Given the description of an element on the screen output the (x, y) to click on. 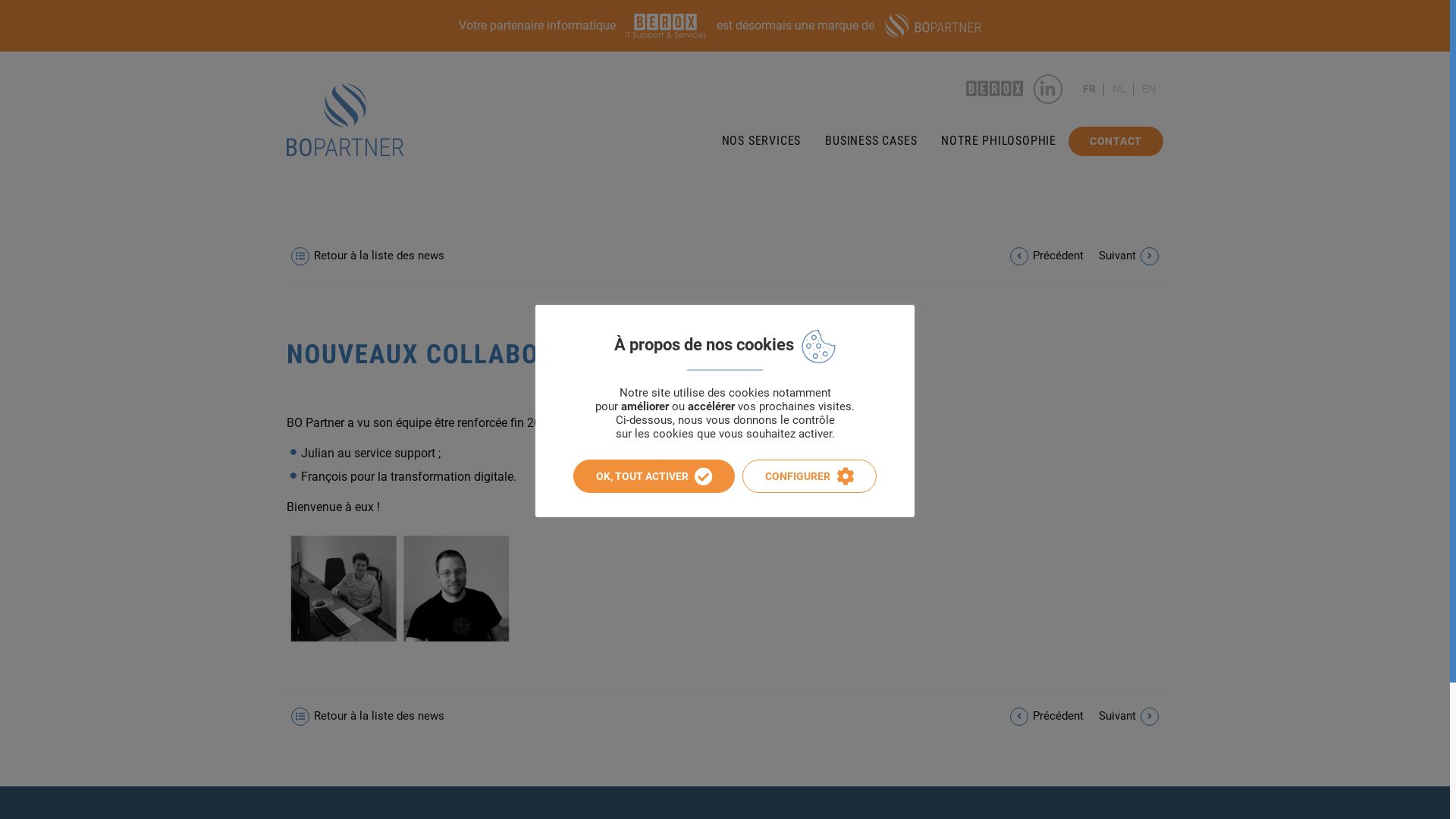
Suivant Element type: text (1130, 256)
EN Element type: text (1148, 88)
Berox Element type: text (994, 88)
FR Element type: text (1088, 88)
Suivant Element type: text (1130, 716)
NOS SERVICES Element type: text (761, 140)
OK, TOUT ACTIVER Element type: text (653, 475)
BUSINESS CASES Element type: text (870, 140)
Bo Partner Element type: hover (344, 119)
LinkedIn Element type: hover (1047, 88)
NOTRE PHILOSOPHIE Element type: text (998, 140)
CONFIGURER Element type: text (809, 475)
NL Element type: text (1117, 88)
CONTACT Element type: text (1115, 140)
